Given the description of an element on the screen output the (x, y) to click on. 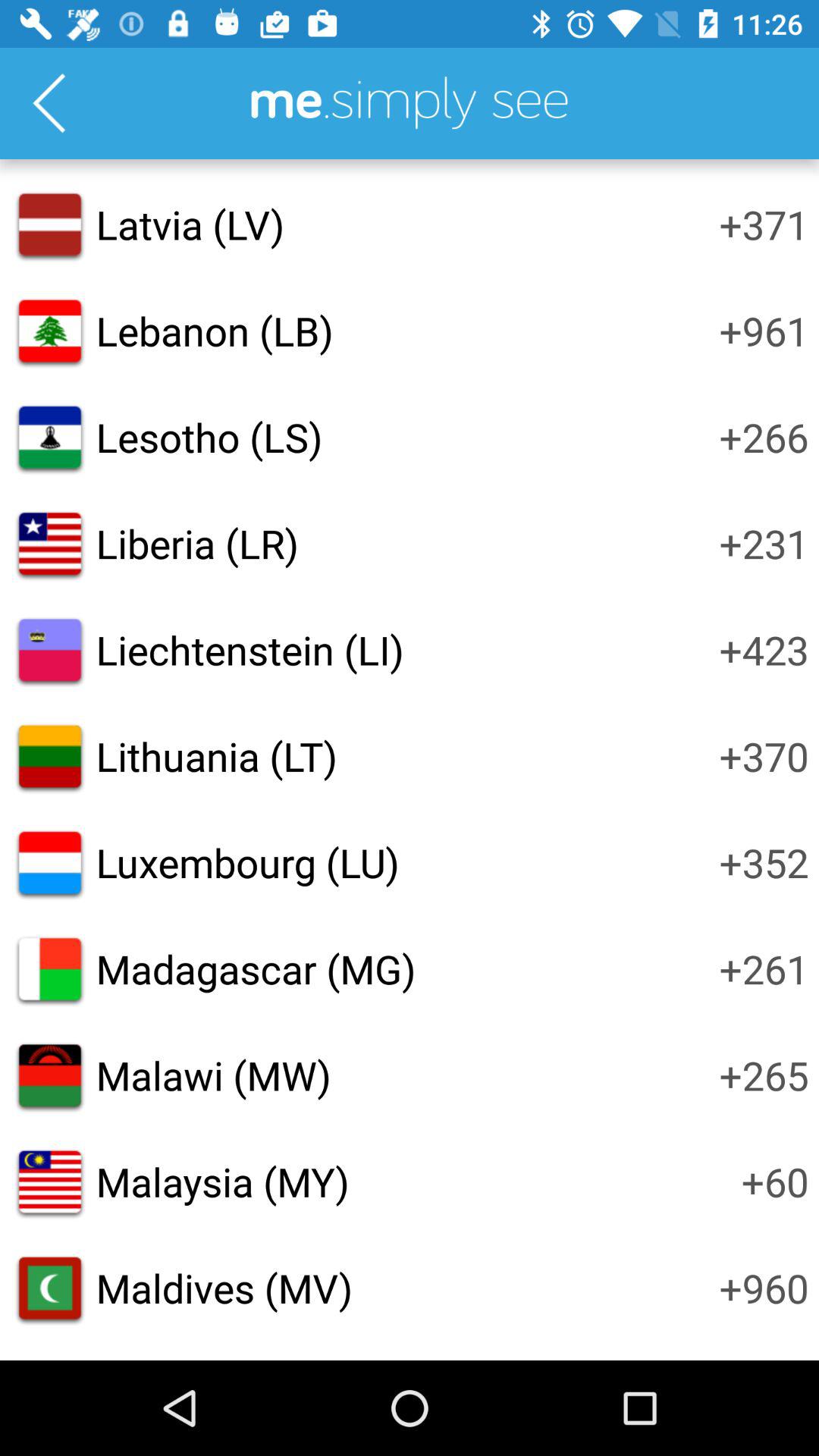
click item above +265 icon (763, 968)
